Given the description of an element on the screen output the (x, y) to click on. 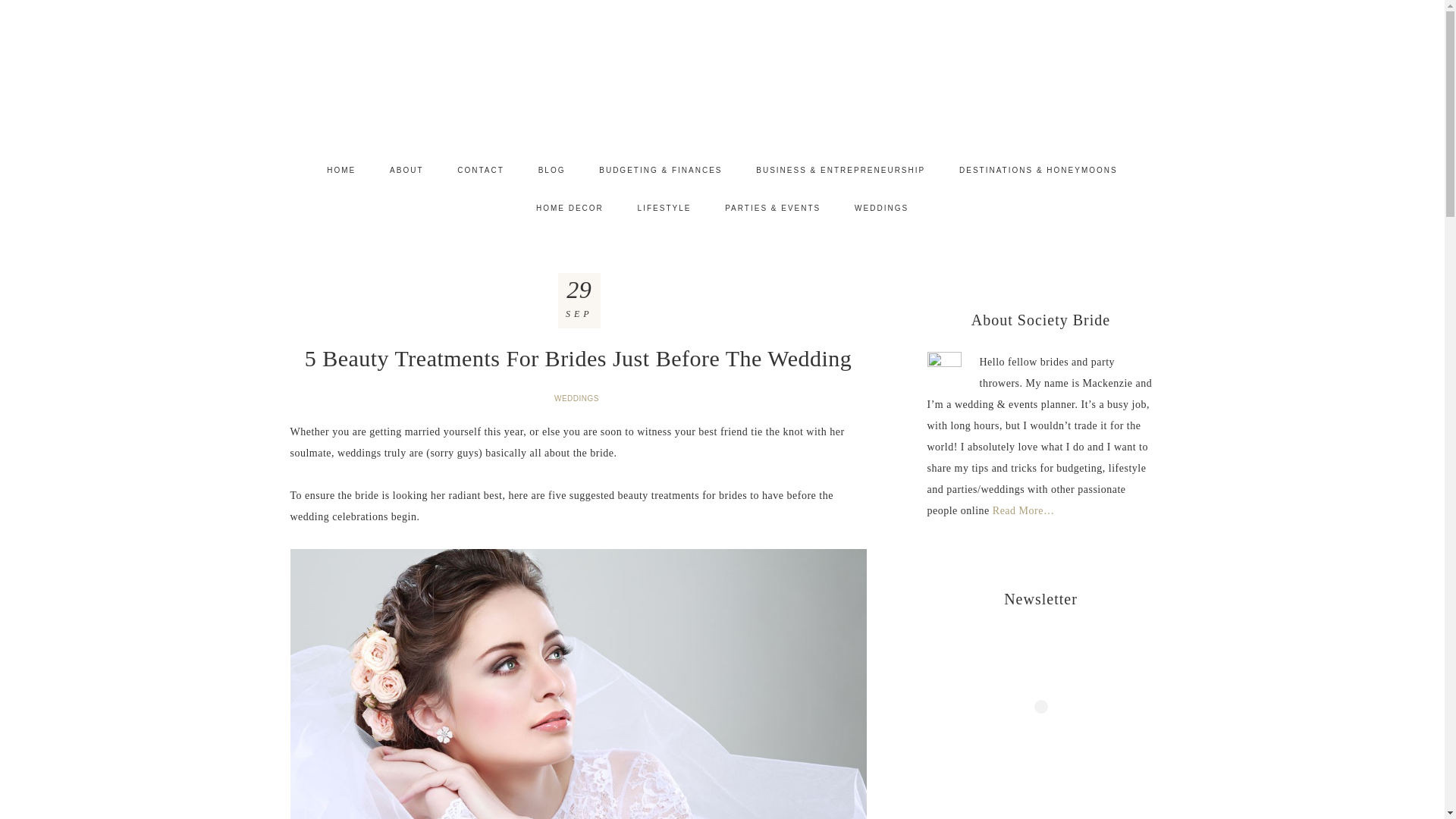
LIFESTYLE (664, 208)
WEDDINGS (578, 397)
CONTACT (480, 170)
WEDDINGS (881, 208)
ABOUT (406, 170)
HOME (341, 170)
SOCIETY BRIDE (721, 65)
BLOG (551, 170)
HOME DECOR (569, 208)
